Given the description of an element on the screen output the (x, y) to click on. 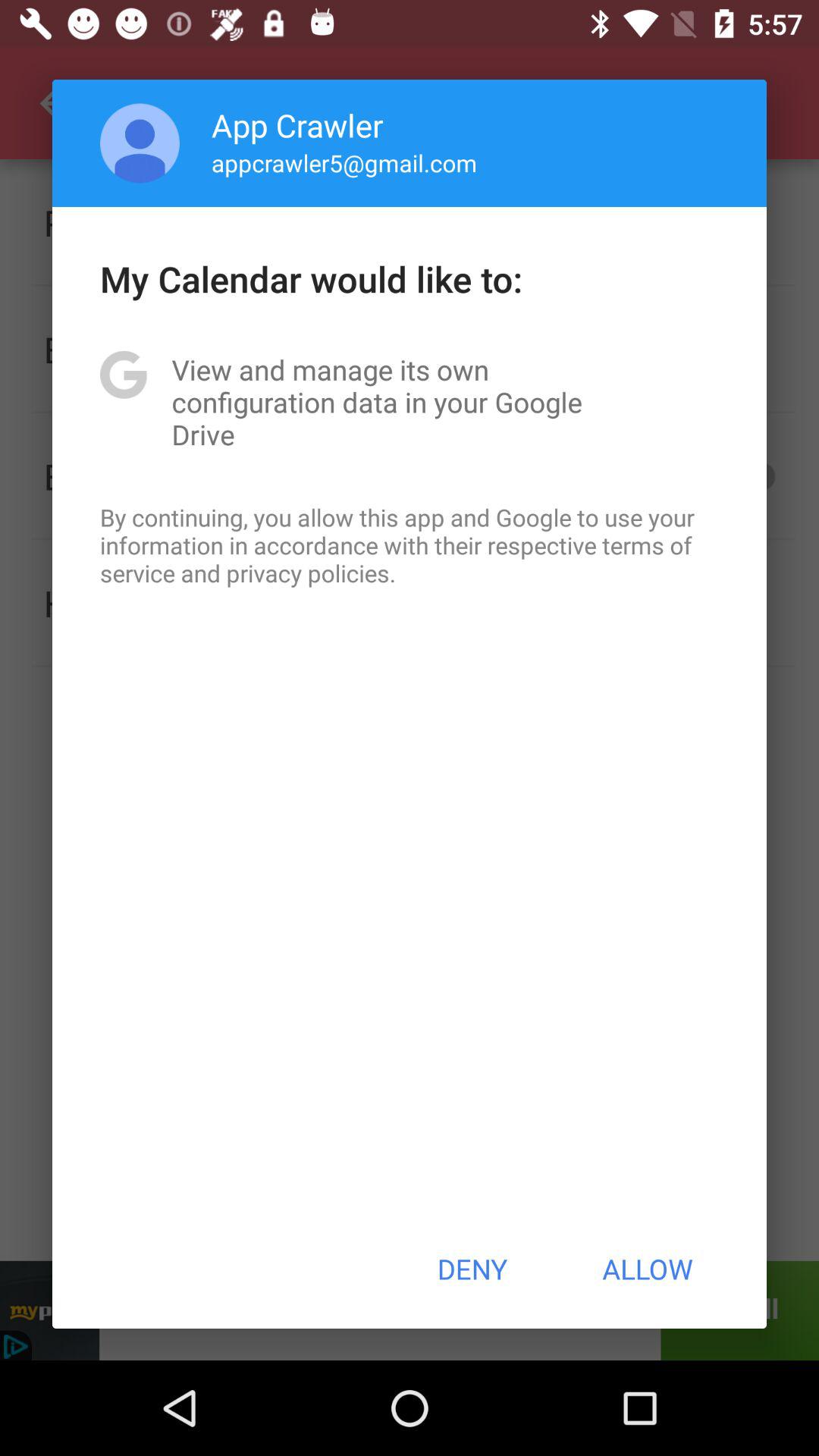
turn on the icon below the my calendar would item (409, 401)
